Given the description of an element on the screen output the (x, y) to click on. 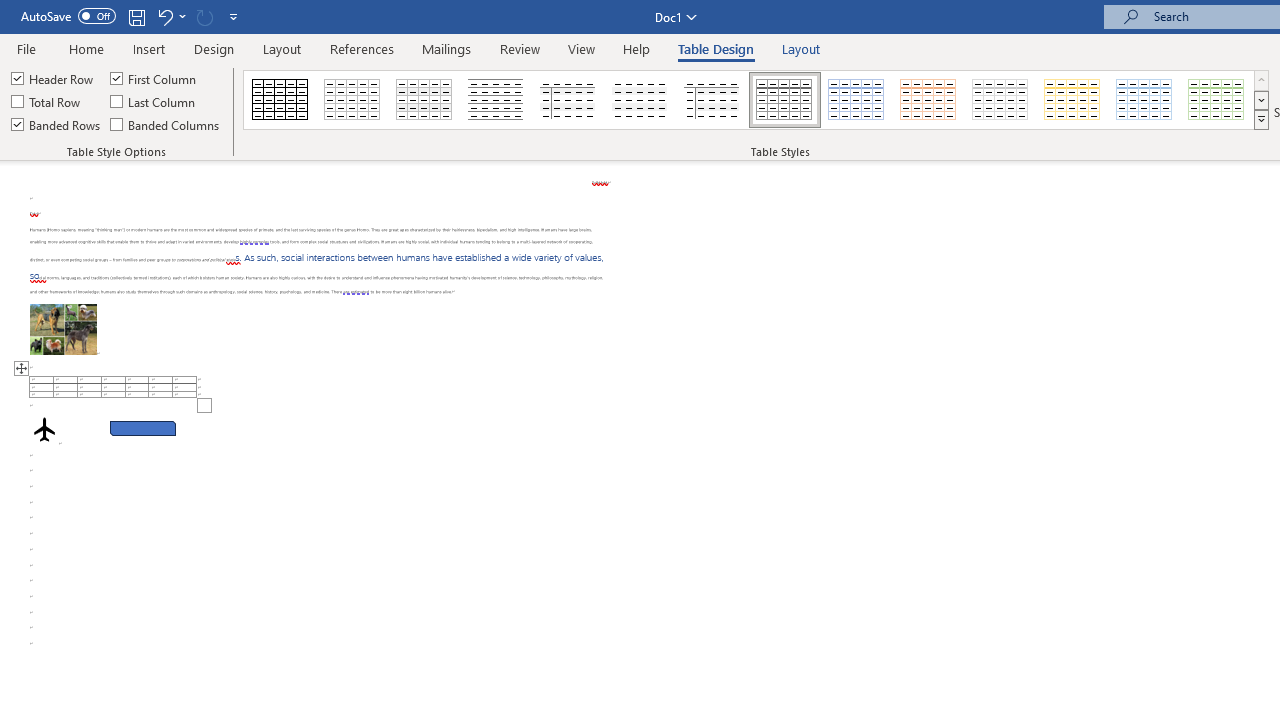
Grid Table 1 Light - Accent 4 (1072, 100)
Undo Row Height Spinner (170, 15)
Quick Access Toolbar (131, 16)
Header Row (53, 78)
Undo Row Height Spinner (164, 15)
Total Row (47, 101)
Banded Columns (166, 124)
Grid Table 1 Light - Accent 1 (856, 100)
Grid Table 1 Light - Accent 5 (1144, 100)
Help (637, 48)
Last Column (154, 101)
Review (520, 48)
Plain Table 5 (712, 100)
System (10, 11)
